Given the description of an element on the screen output the (x, y) to click on. 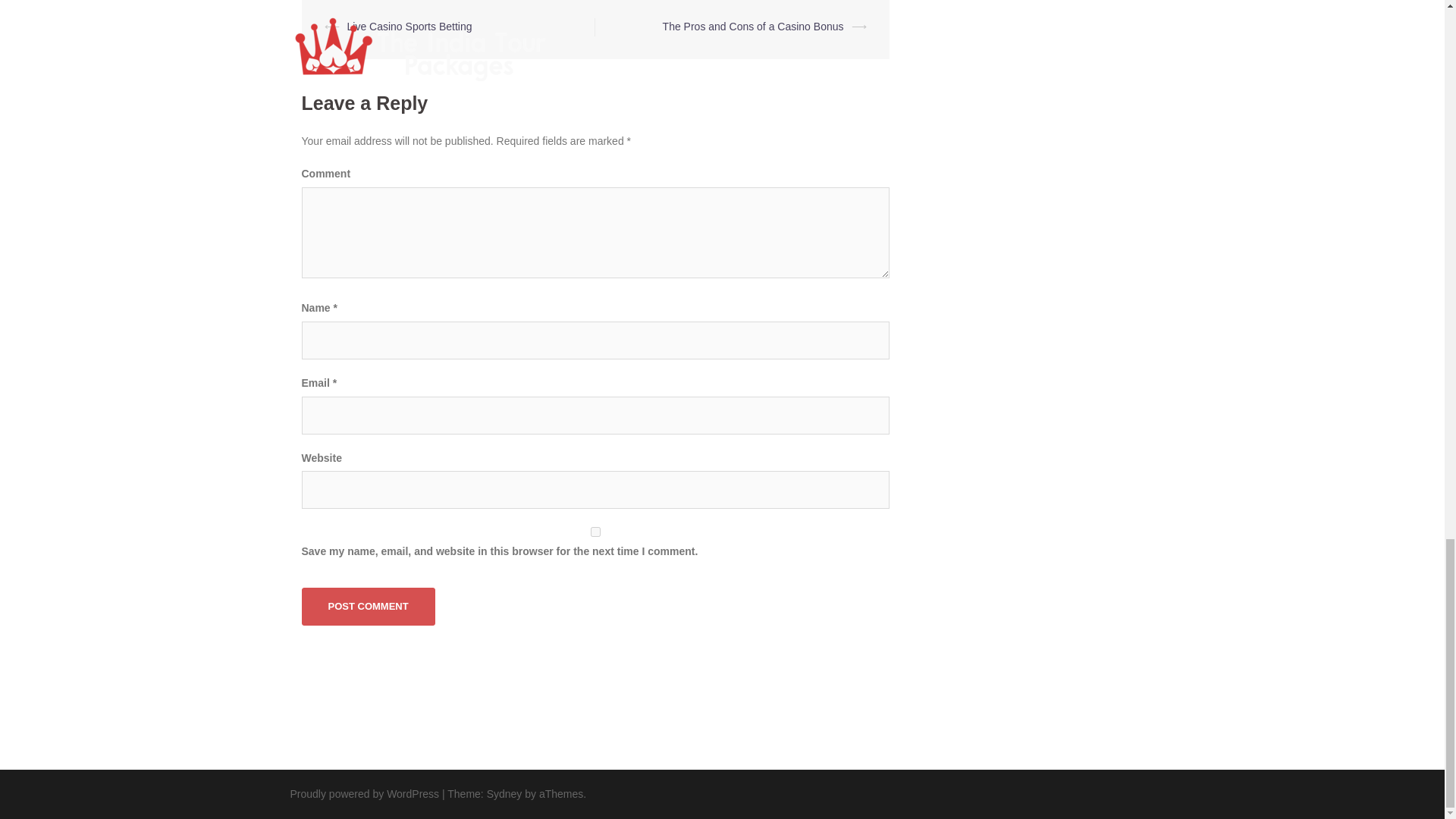
Proudly powered by WordPress (364, 793)
Live Casino Sports Betting (409, 26)
Post Comment (368, 606)
yes (595, 532)
Sydney (504, 793)
Post Comment (368, 606)
The Pros and Cons of a Casino Bonus (753, 26)
